Given the description of an element on the screen output the (x, y) to click on. 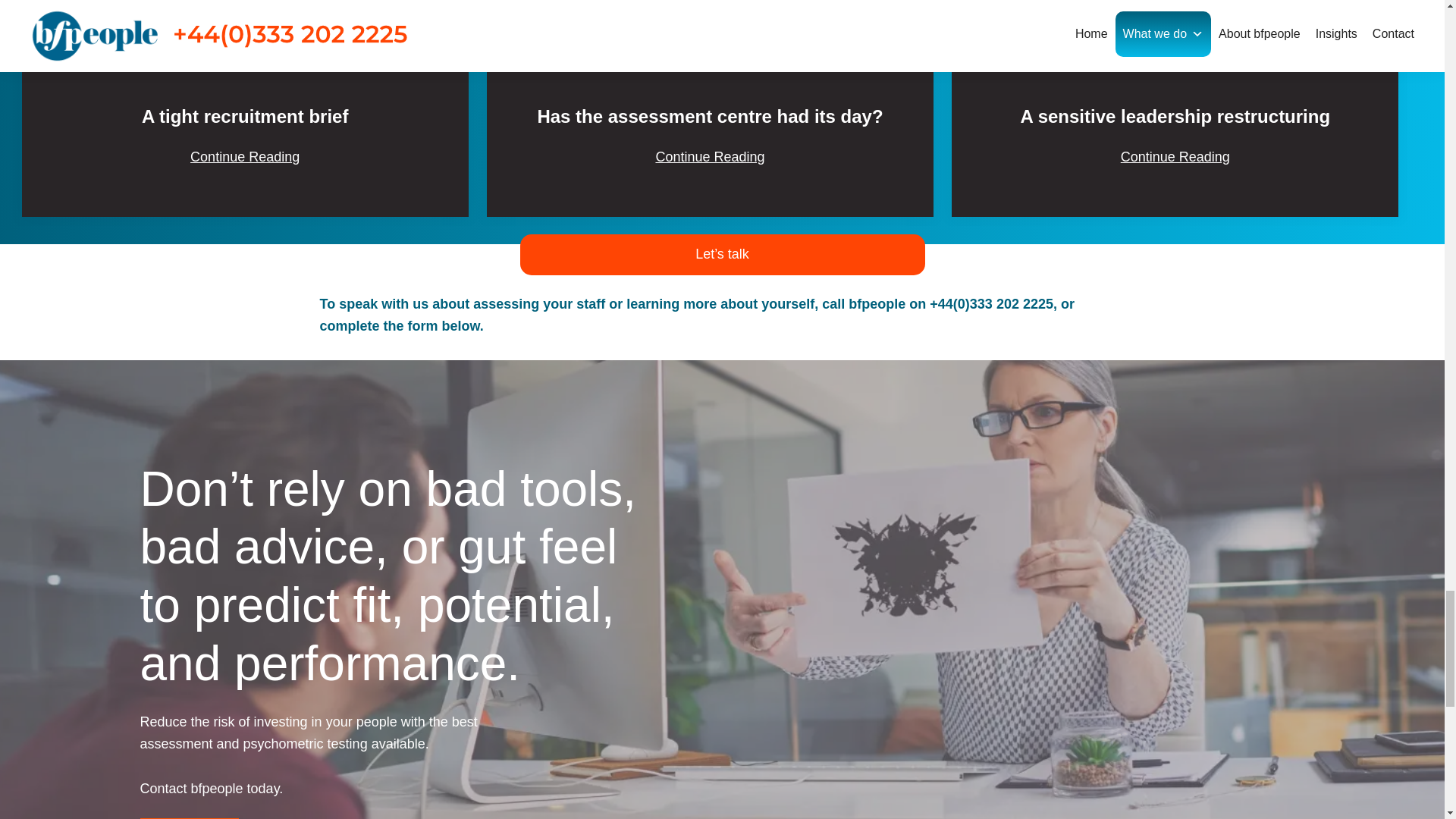
A tight recruitment brief (244, 116)
Continue Reading (244, 157)
contact bfpeople (721, 254)
